Given the description of an element on the screen output the (x, y) to click on. 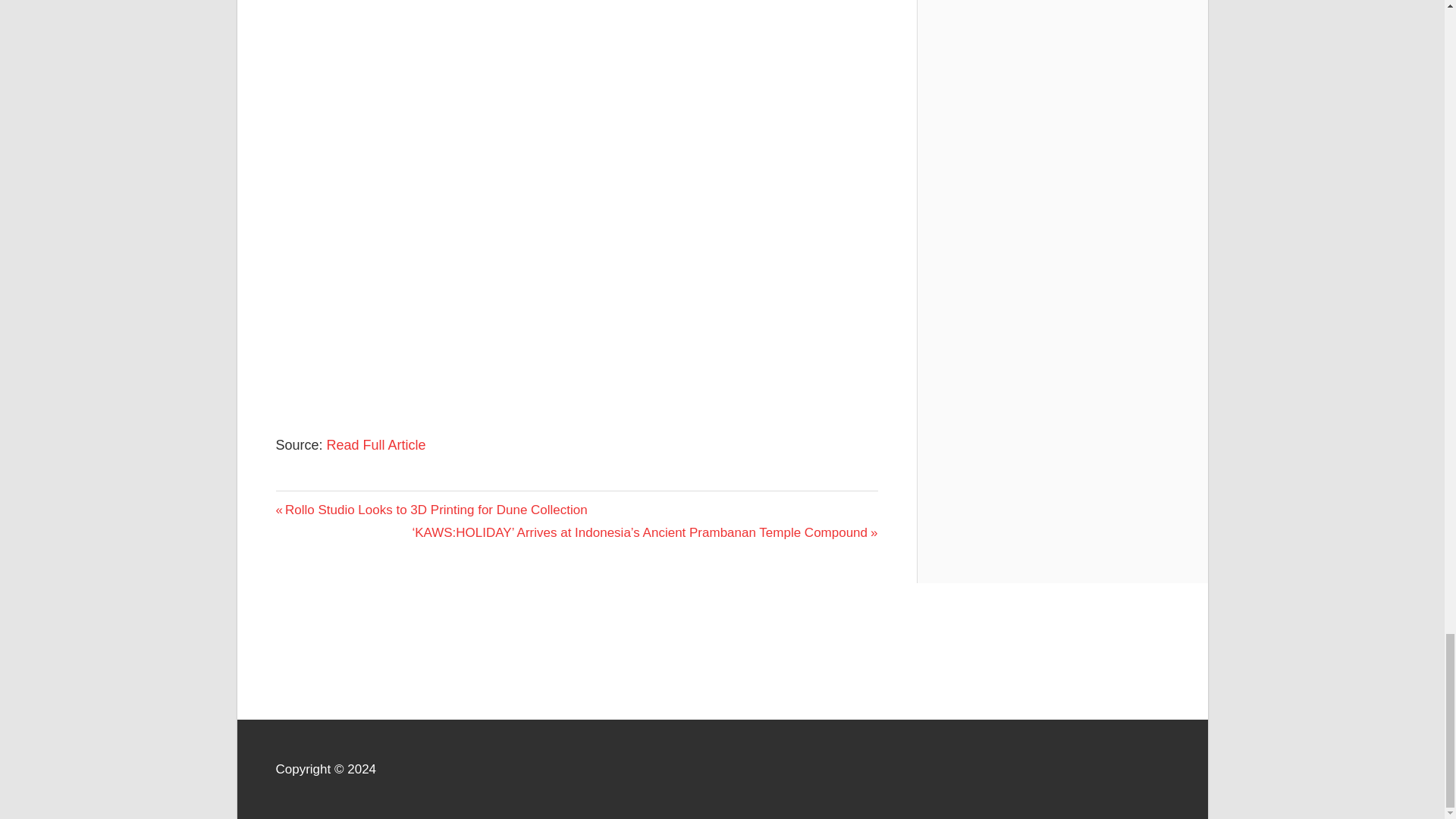
Read Full Article (376, 444)
LIFESTYLE (312, 503)
